Given the description of an element on the screen output the (x, y) to click on. 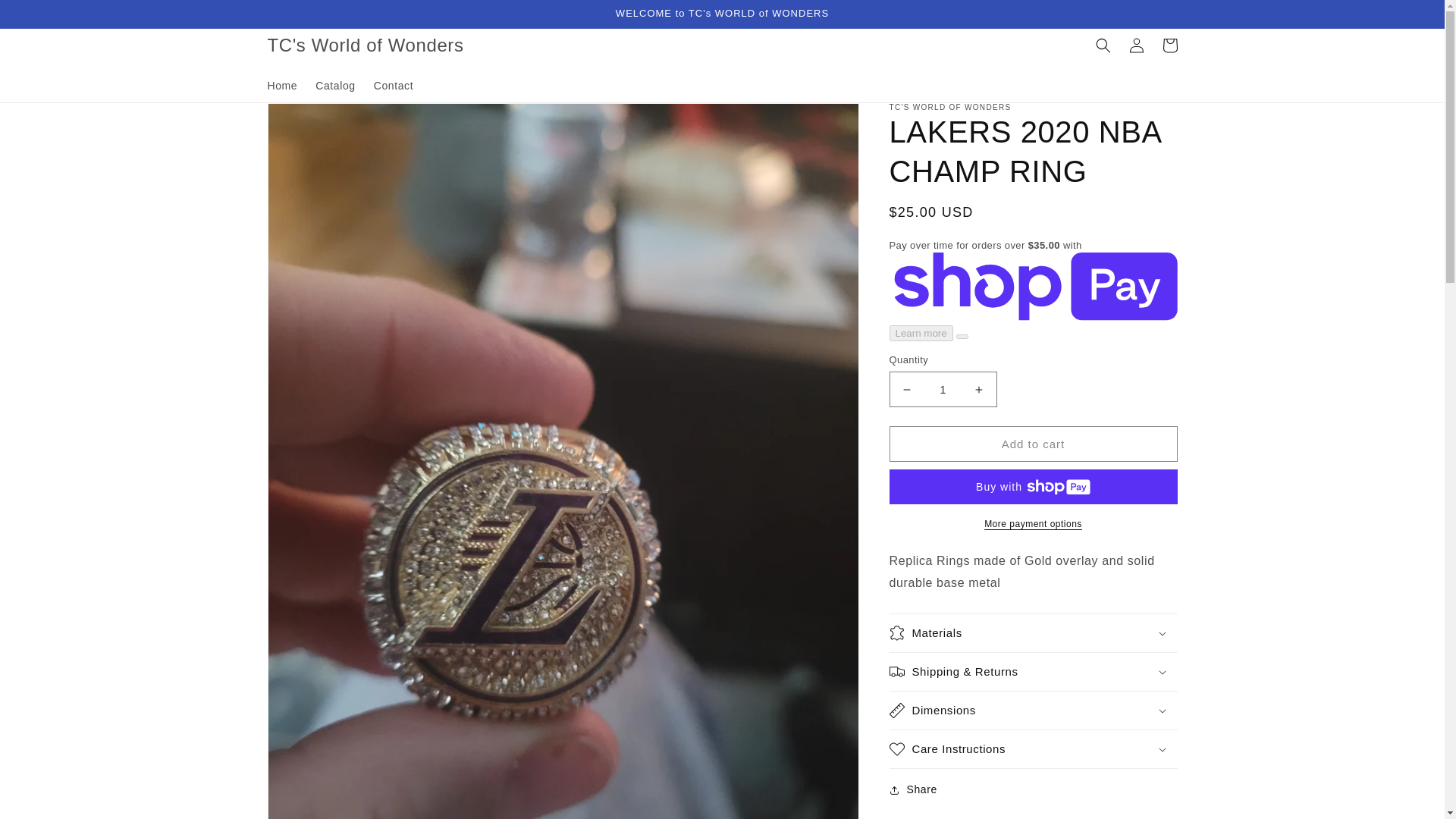
Decrease quantity for LAKERS 2020 NBA CHAMP RING (906, 389)
Catalog (334, 85)
Contact (393, 85)
More payment options (1032, 523)
Cart (1169, 45)
Add to cart (1032, 443)
Increase quantity for LAKERS 2020 NBA CHAMP RING (977, 389)
TC's World of Wonders (365, 44)
Skip to content (45, 17)
Home (281, 85)
